Given the description of an element on the screen output the (x, y) to click on. 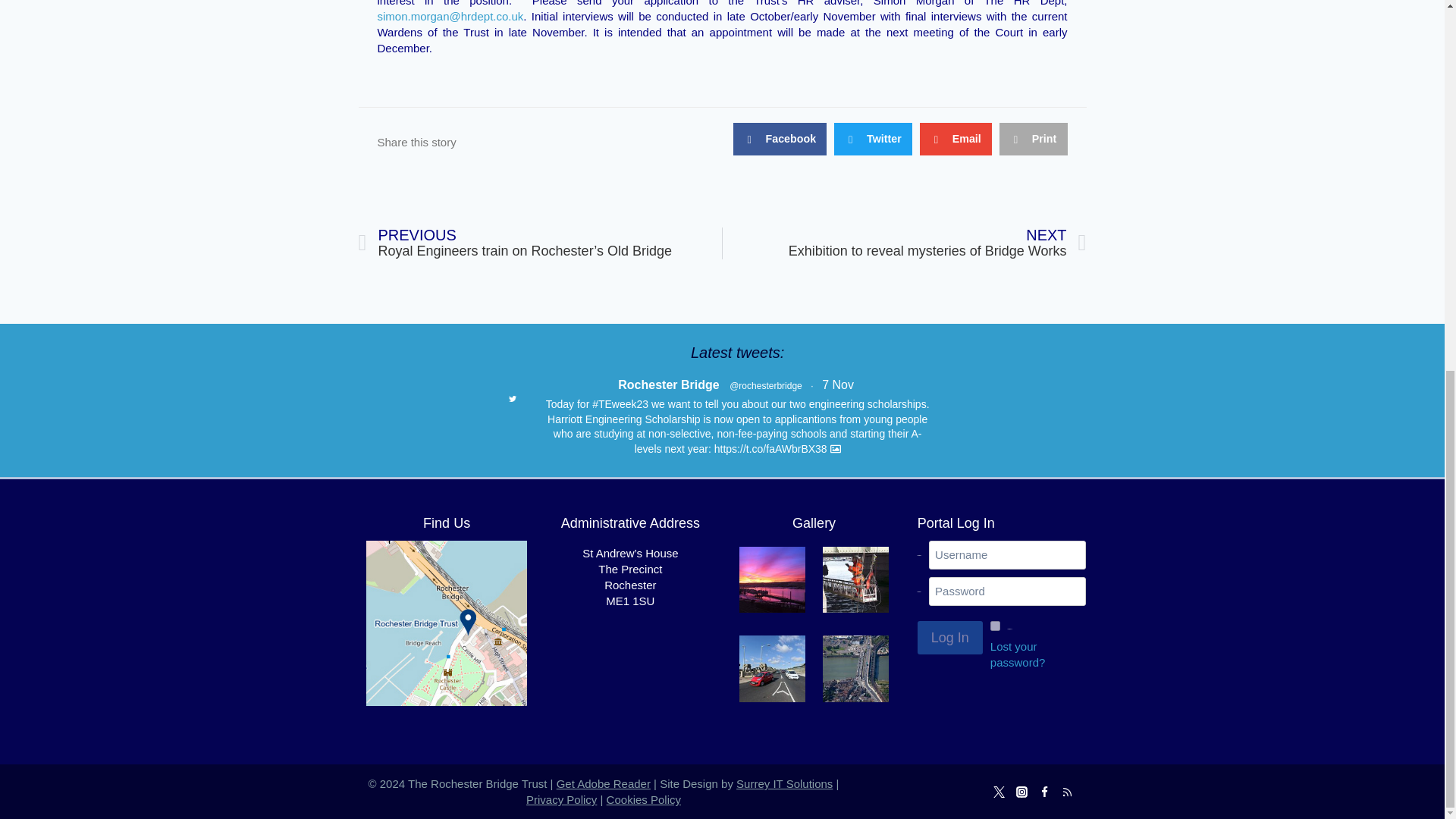
forever (995, 625)
Log In (949, 636)
